Given the description of an element on the screen output the (x, y) to click on. 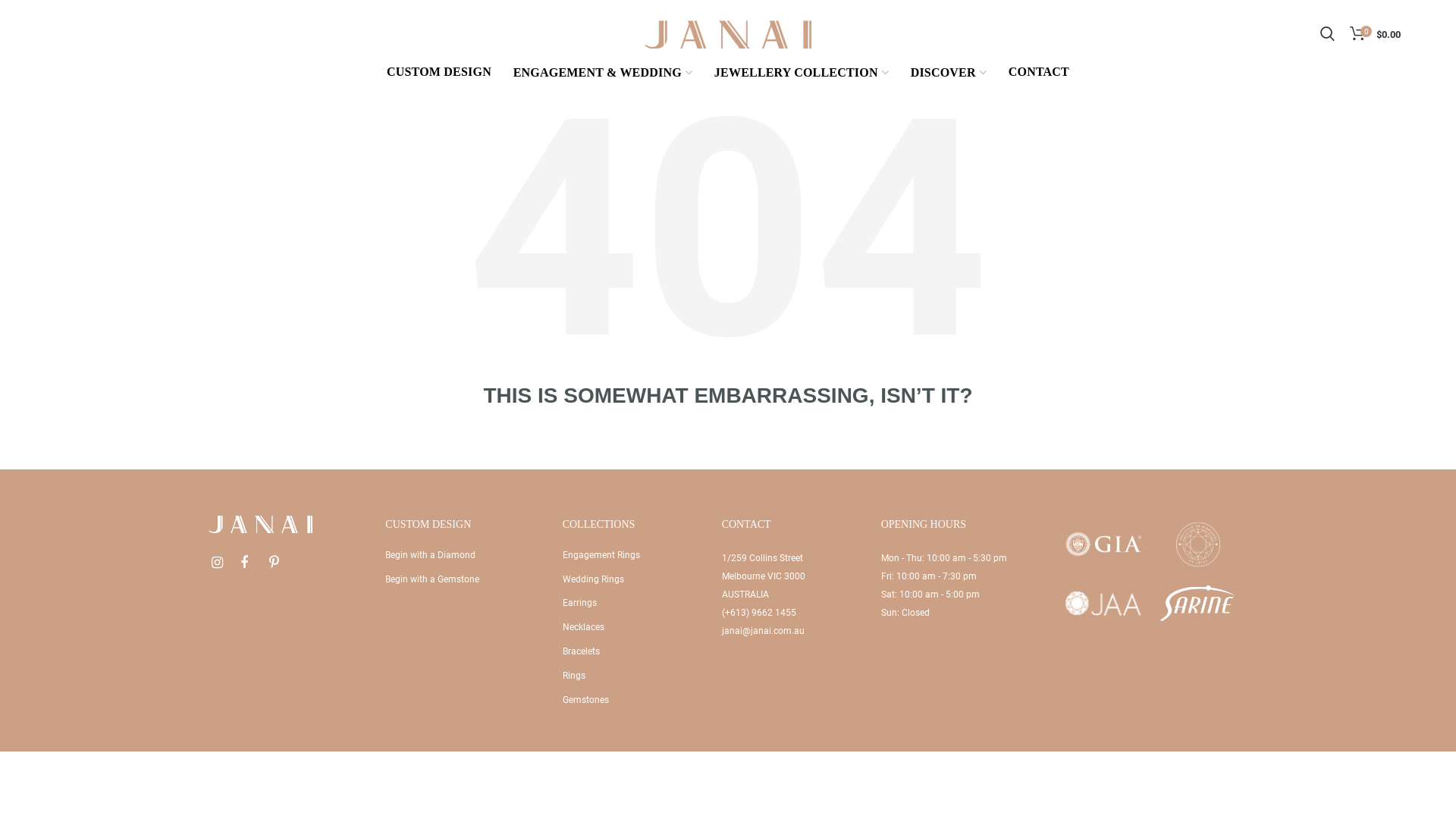
(+613) 9662 1455 Element type: text (758, 612)
Janai Jewellery - Diamond Engagement Rings Melbourne Element type: hover (727, 33)
Bracelets Element type: text (580, 651)
janai@janai.com.au Element type: text (762, 630)
DISCOVER Element type: text (948, 73)
JEWELLERY COLLECTION Element type: text (801, 73)
Earrings Element type: text (579, 602)
Necklaces Element type: text (583, 626)
Rings Element type: text (573, 675)
CONTACT Element type: text (1038, 73)
Begin with a Diamond Element type: text (430, 554)
Engagement Rings Element type: text (601, 554)
CUSTOM DESIGN Element type: text (438, 73)
Begin with a Gemstone Element type: text (432, 579)
Wedding Rings Element type: text (593, 579)
0
$0.00 Element type: text (1375, 33)
Gemstones Element type: text (585, 699)
ENGAGEMENT & WEDDING Element type: text (602, 73)
